Given the description of an element on the screen output the (x, y) to click on. 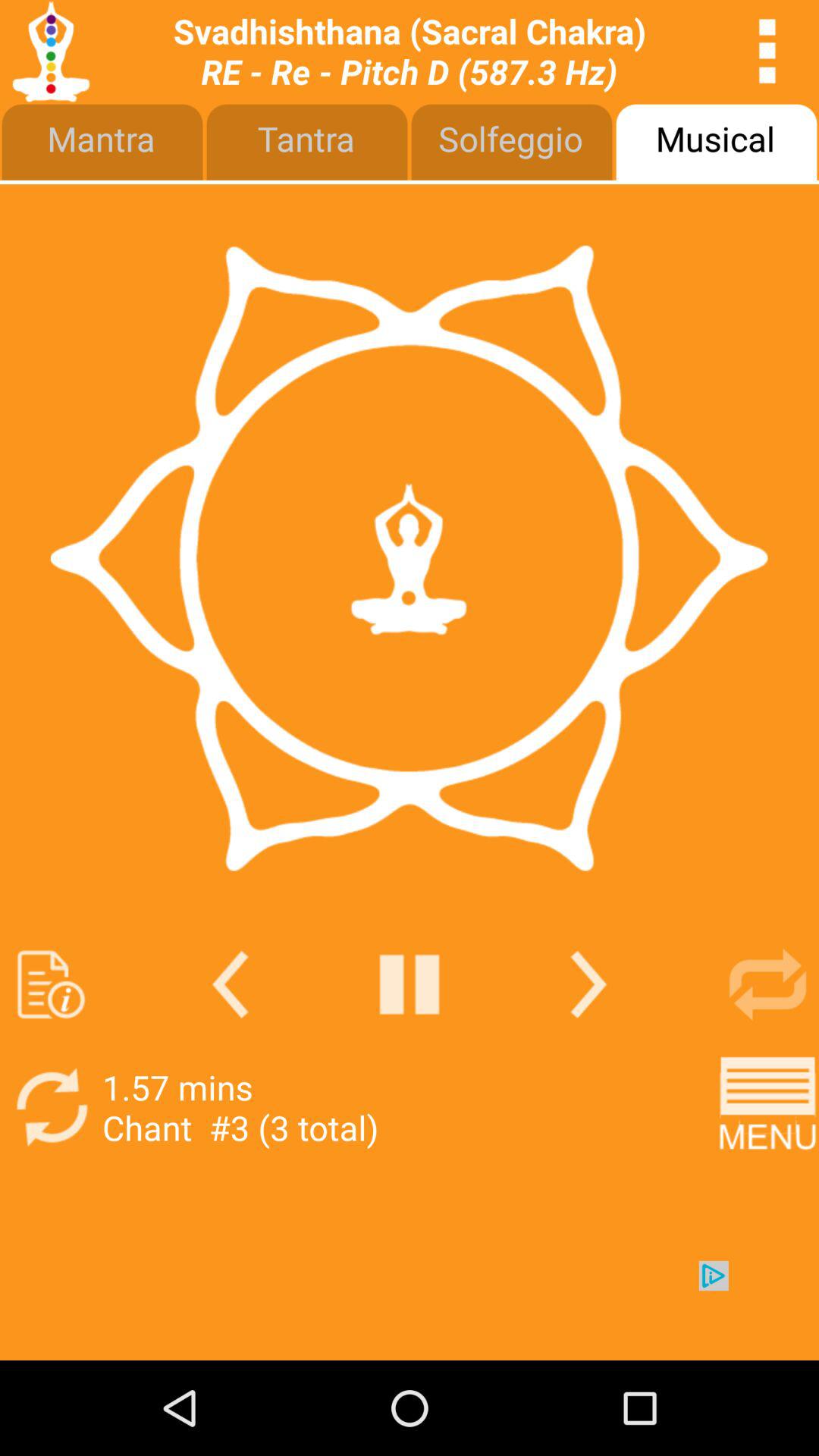
go back (230, 984)
